Given the description of an element on the screen output the (x, y) to click on. 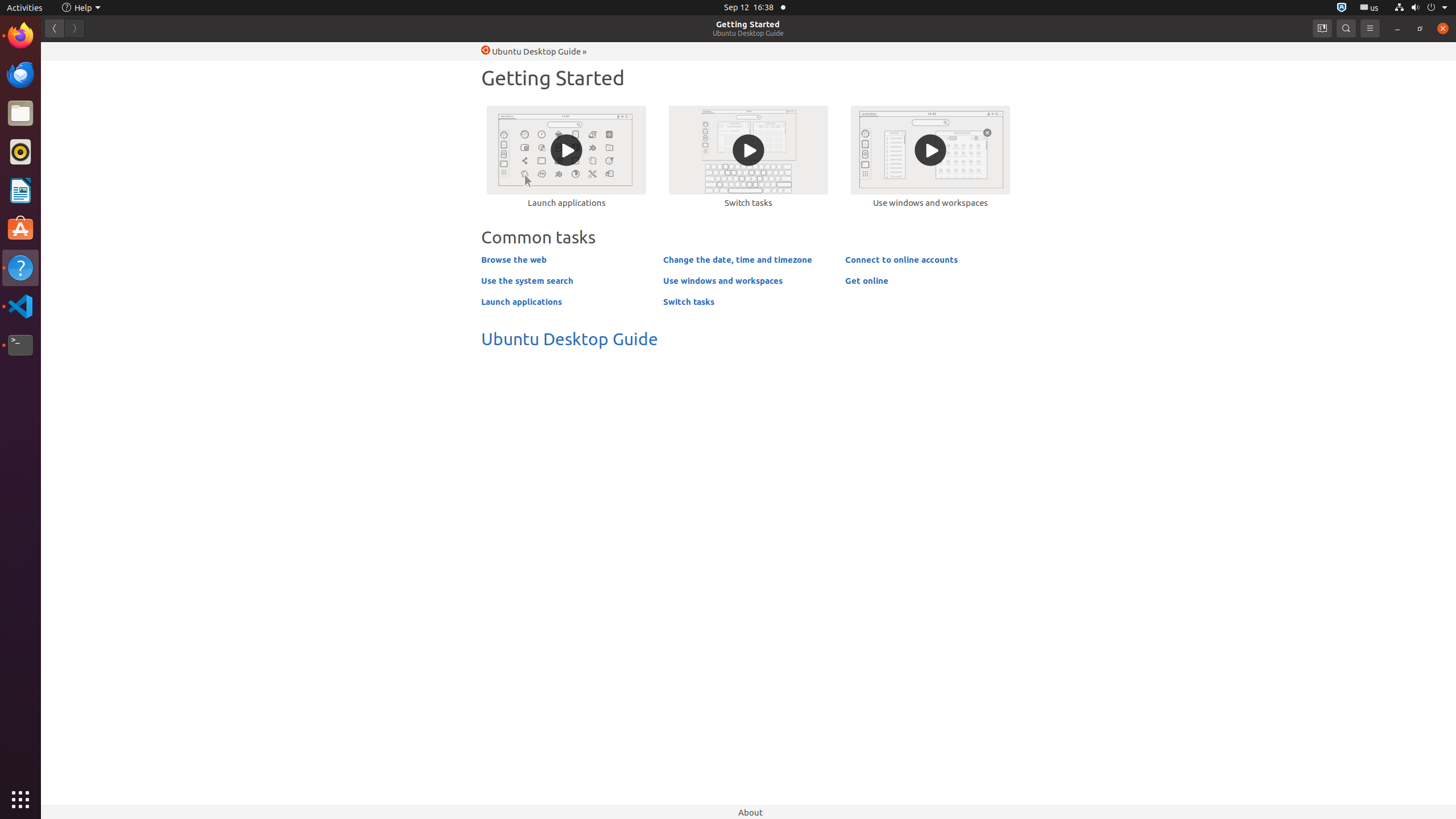
Use the system search Element type: link (527, 280)
Use windows and workspaces Element type: link (930, 156)
Restore Element type: push-button (1419, 27)
